Given the description of an element on the screen output the (x, y) to click on. 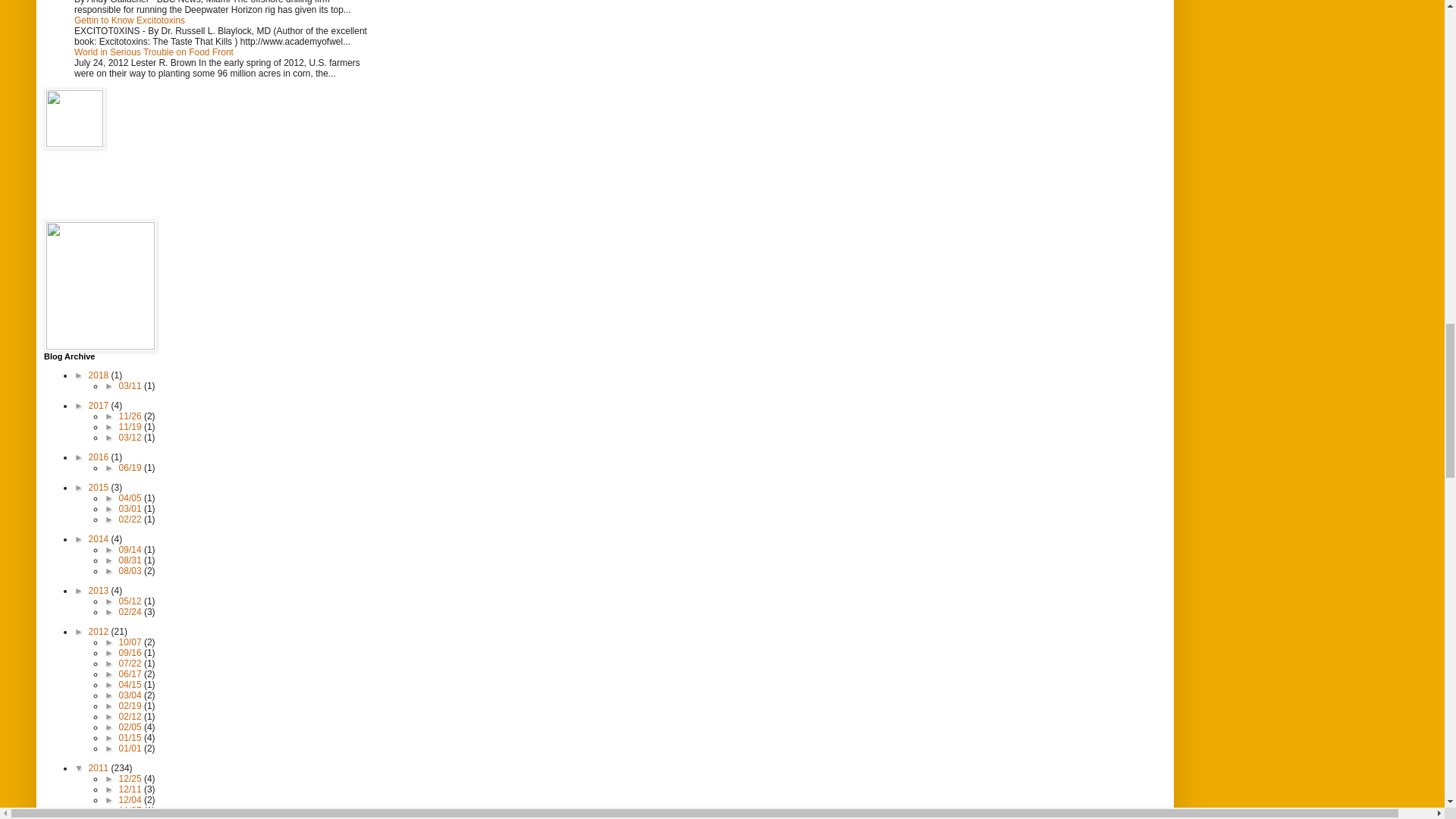
Advertisement (111, 183)
Gettin to Know Excitotoxins (129, 20)
2018 (100, 375)
World in Serious Trouble on Food Front (153, 51)
